Given the description of an element on the screen output the (x, y) to click on. 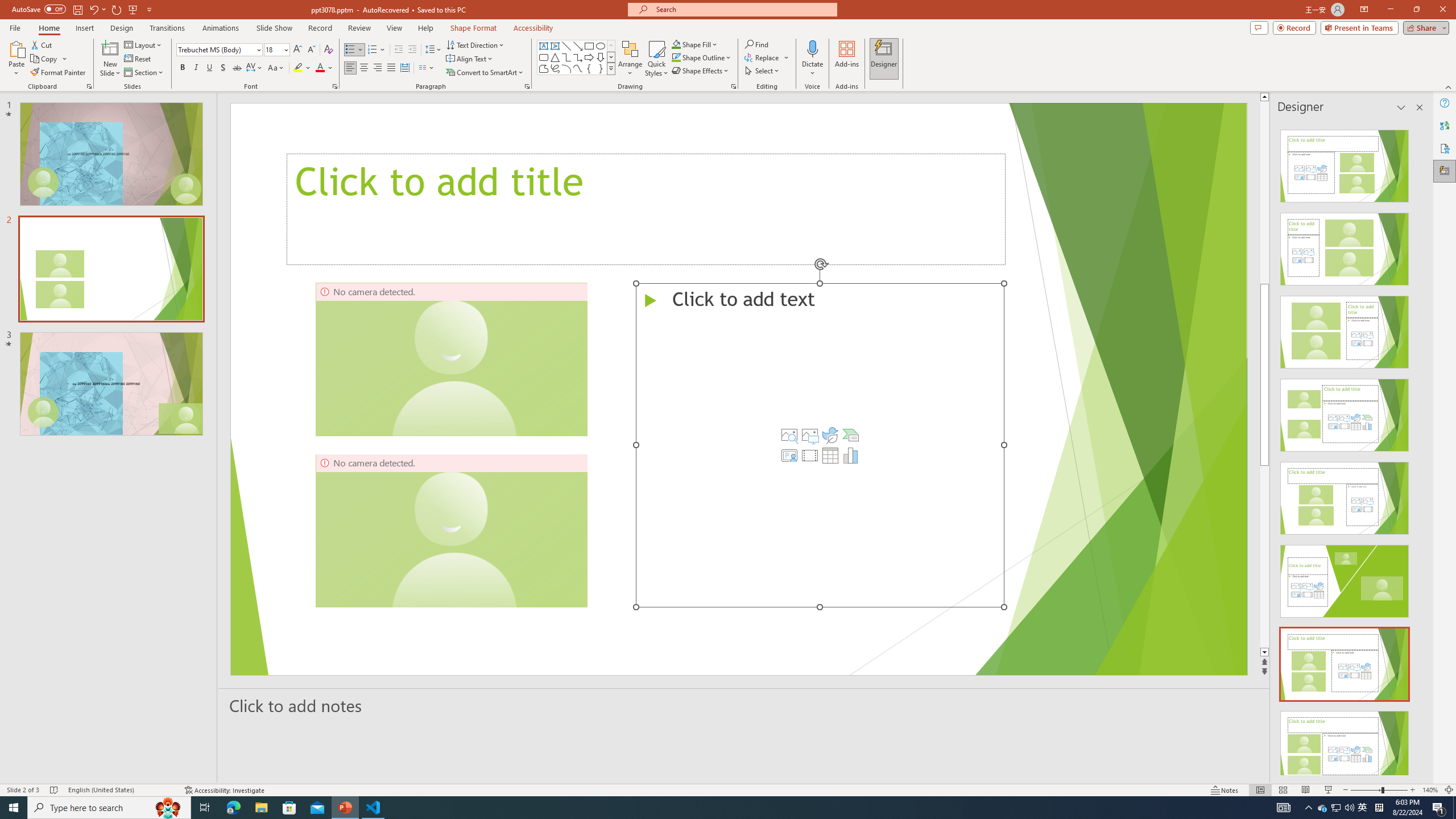
Shape Outline Green, Accent 1 (675, 56)
